Given the description of an element on the screen output the (x, y) to click on. 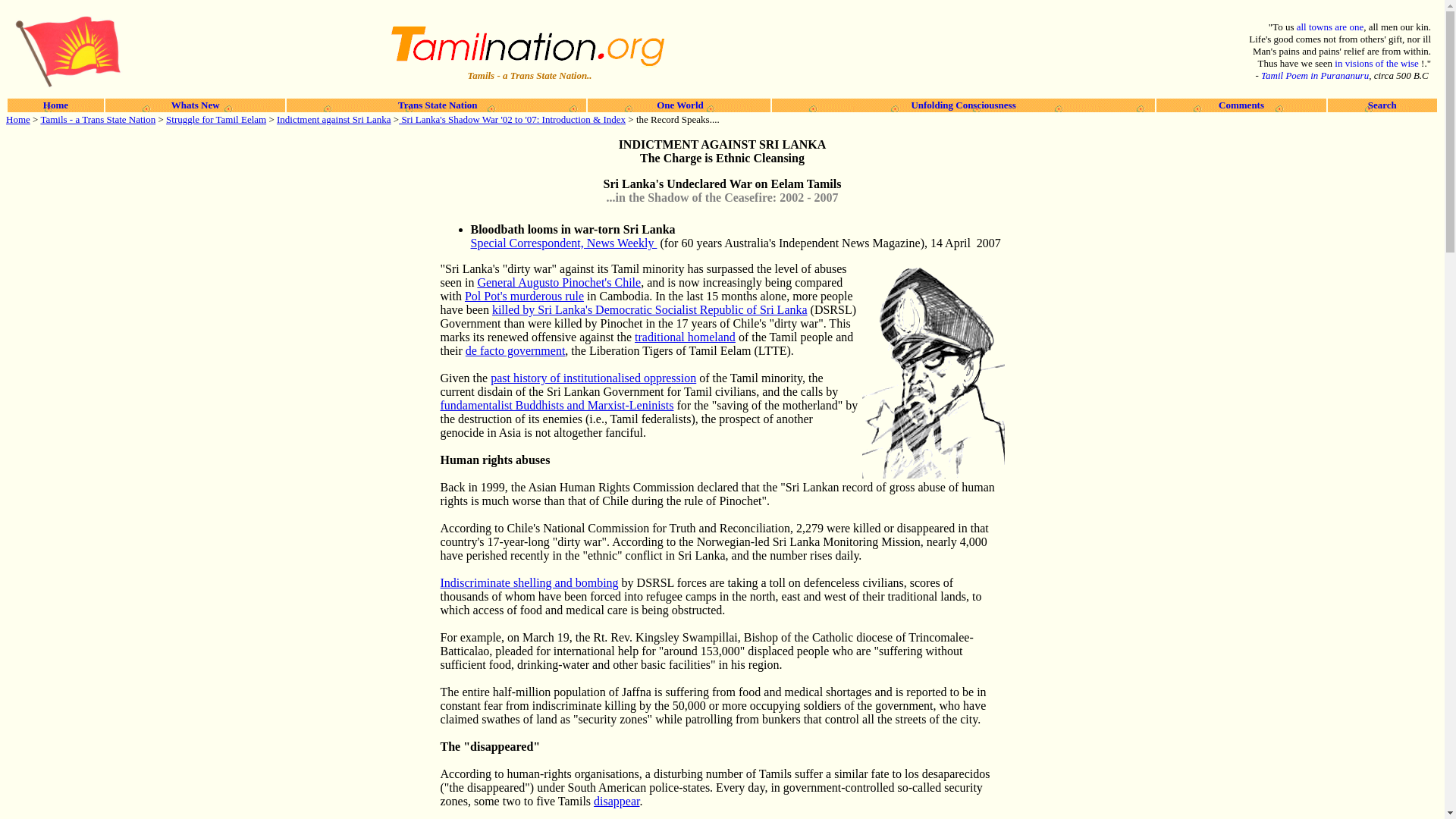
 One World (678, 104)
Indiscriminate shelling and bombing (528, 582)
Tamils - a Trans State Nation (97, 119)
all towns are one (1329, 26)
Whats New (195, 104)
Tamil Poem in Purananuru (1314, 75)
Struggle for Tamil Eelam (215, 119)
General Augusto Pinochet's Chile (558, 282)
Special Correspondent, News Weekly (563, 242)
disappear (616, 800)
 Trans State Nation (436, 104)
Search (1382, 104)
Home (55, 104)
in visions of the wise (1378, 62)
